Given the description of an element on the screen output the (x, y) to click on. 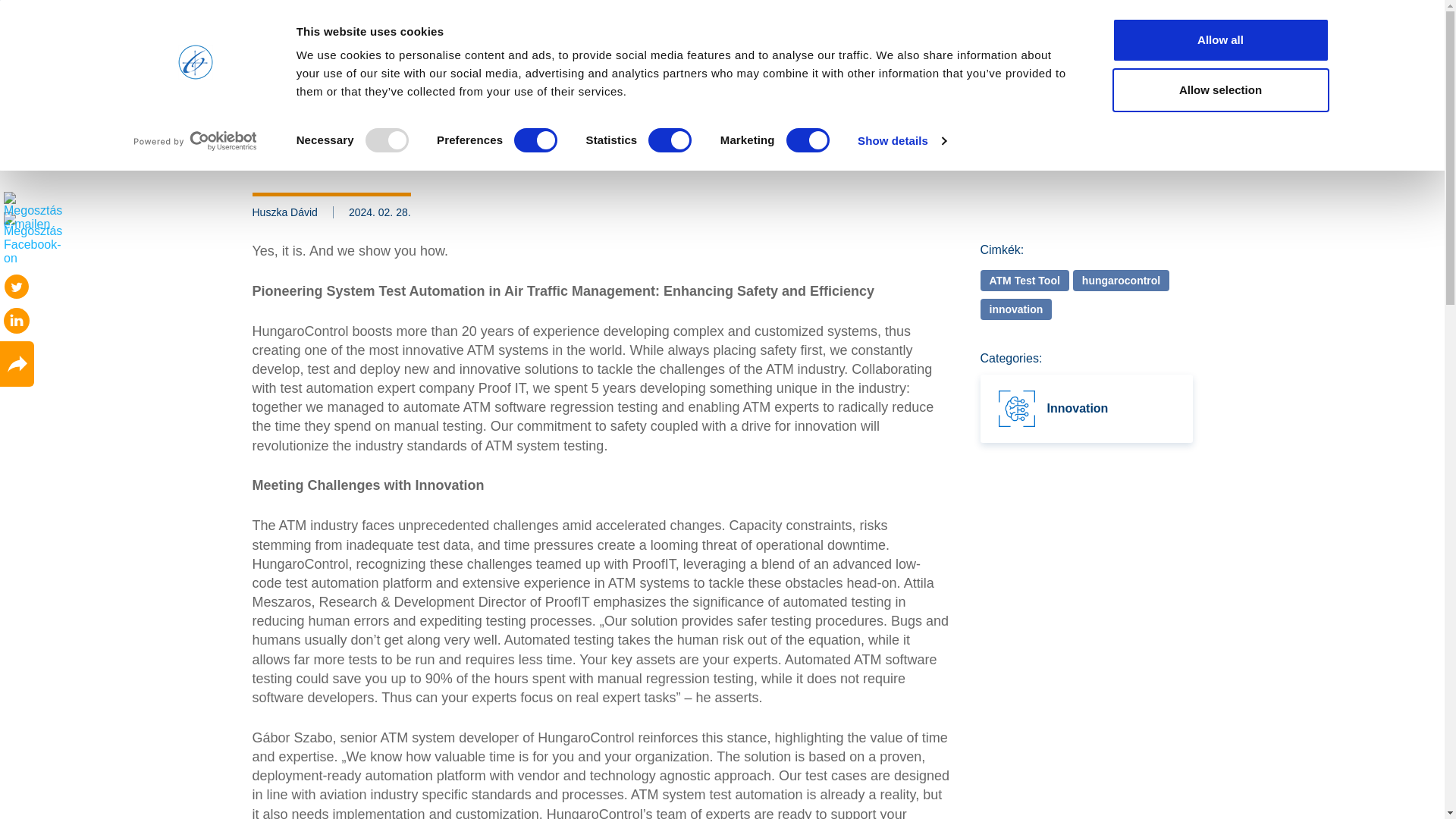
ABOUT US (588, 67)
EN (1170, 14)
HU (1138, 14)
Search (1173, 69)
SOLUTIONS (679, 67)
Show details (900, 140)
Allow selection (1219, 89)
High contrast mode (1039, 14)
Allow all (1219, 40)
